Given the description of an element on the screen output the (x, y) to click on. 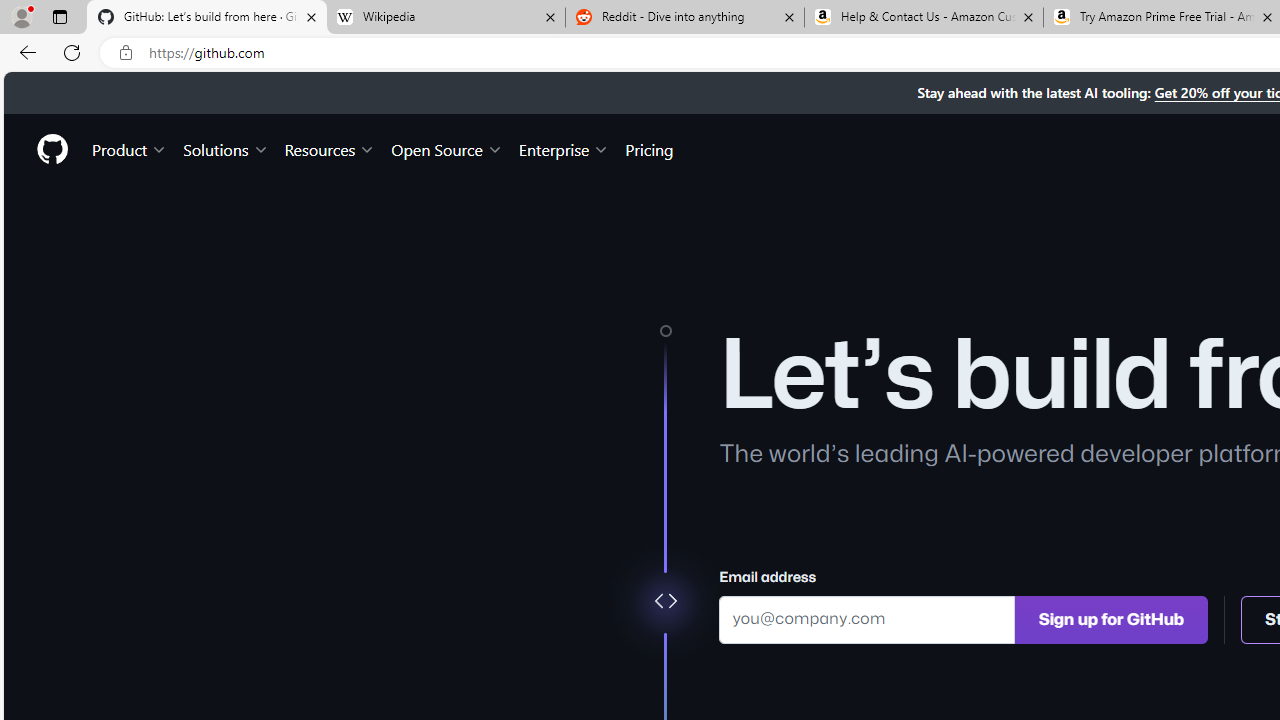
Enterprise (563, 148)
Product (130, 148)
Solutions (225, 148)
Sign up for GitHub (1111, 618)
